Given the description of an element on the screen output the (x, y) to click on. 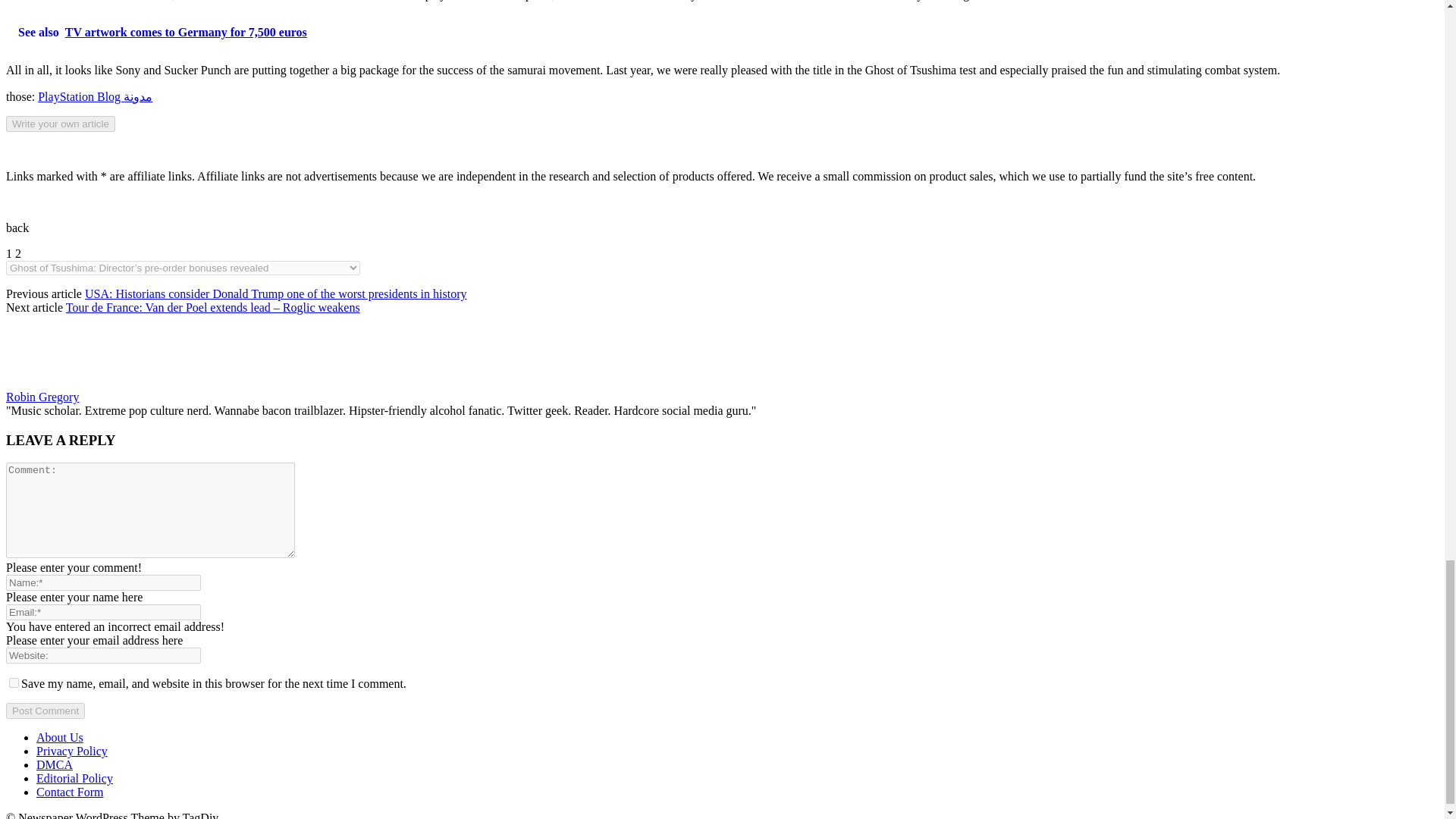
About Us (59, 737)
yes (13, 682)
Robin Gregory (41, 396)
Post Comment (44, 710)
Post Comment (44, 710)
Write your own article (60, 123)
Playstation Blog (94, 96)
